Given the description of an element on the screen output the (x, y) to click on. 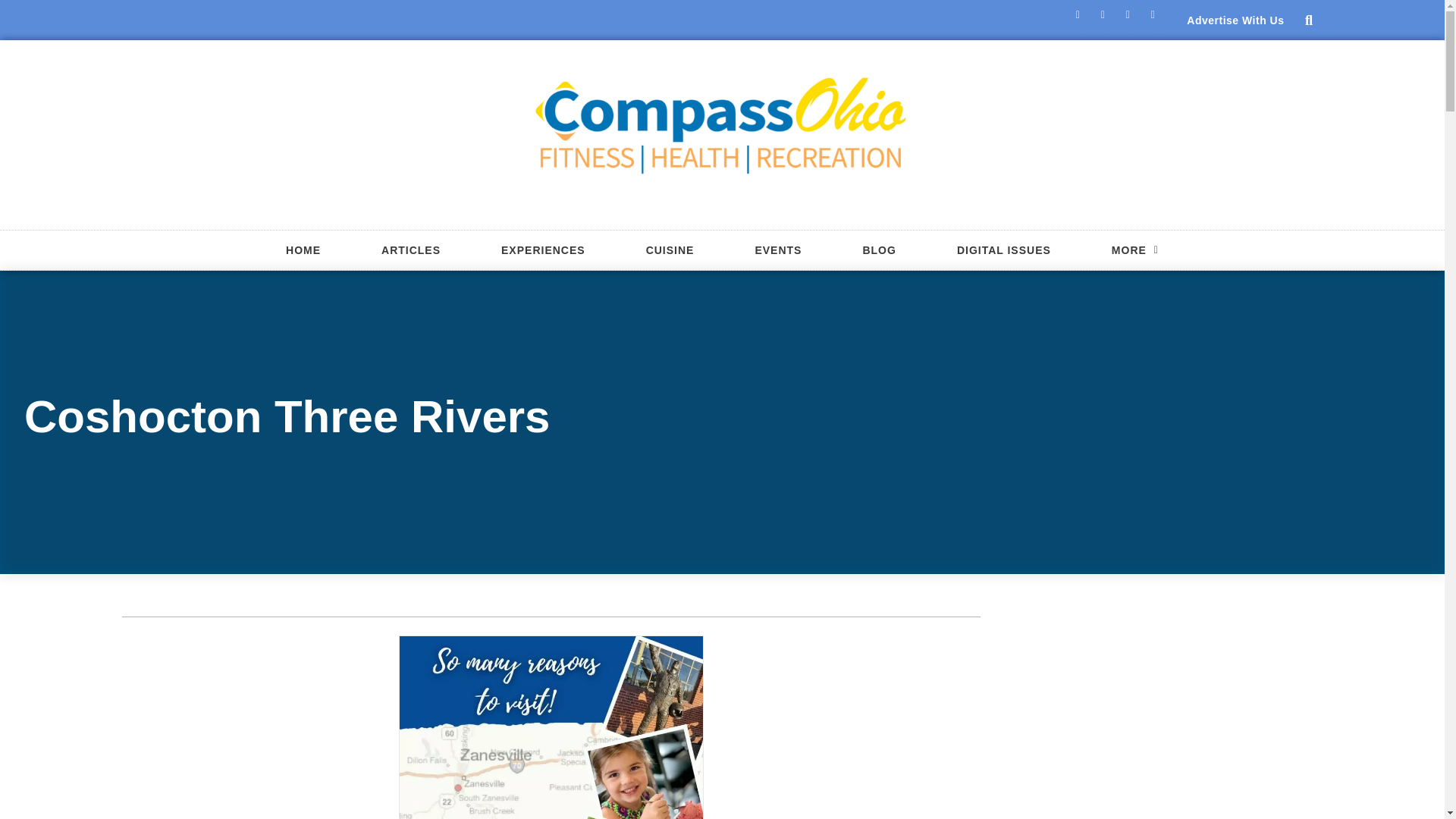
DIGITAL ISSUES (1003, 250)
EXPERIENCES (542, 250)
Advertise With Us (1235, 20)
MORE (1135, 250)
ARTICLES (410, 250)
HOME (303, 250)
CUISINE (670, 250)
EVENTS (777, 250)
BLOG (878, 250)
